Given the description of an element on the screen output the (x, y) to click on. 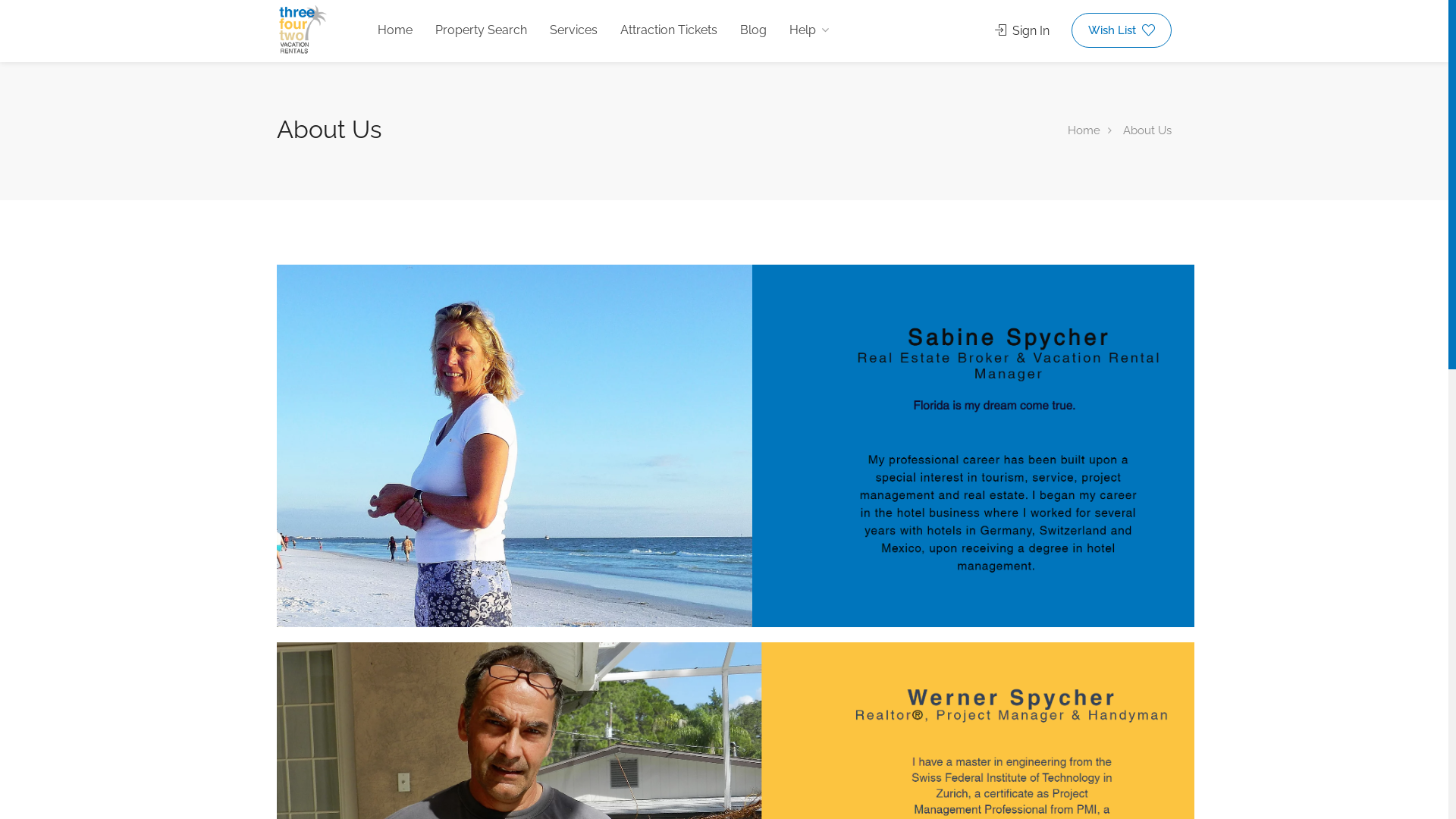
Sign In Element type: text (1021, 30)
Blog Element type: text (753, 30)
Services Element type: text (573, 30)
Wish List Element type: text (1121, 29)
Home Element type: text (1083, 129)
Attraction Tickets Element type: text (668, 30)
Property Search Element type: text (480, 30)
Help Element type: text (808, 30)
Home Element type: text (395, 30)
